Given the description of an element on the screen output the (x, y) to click on. 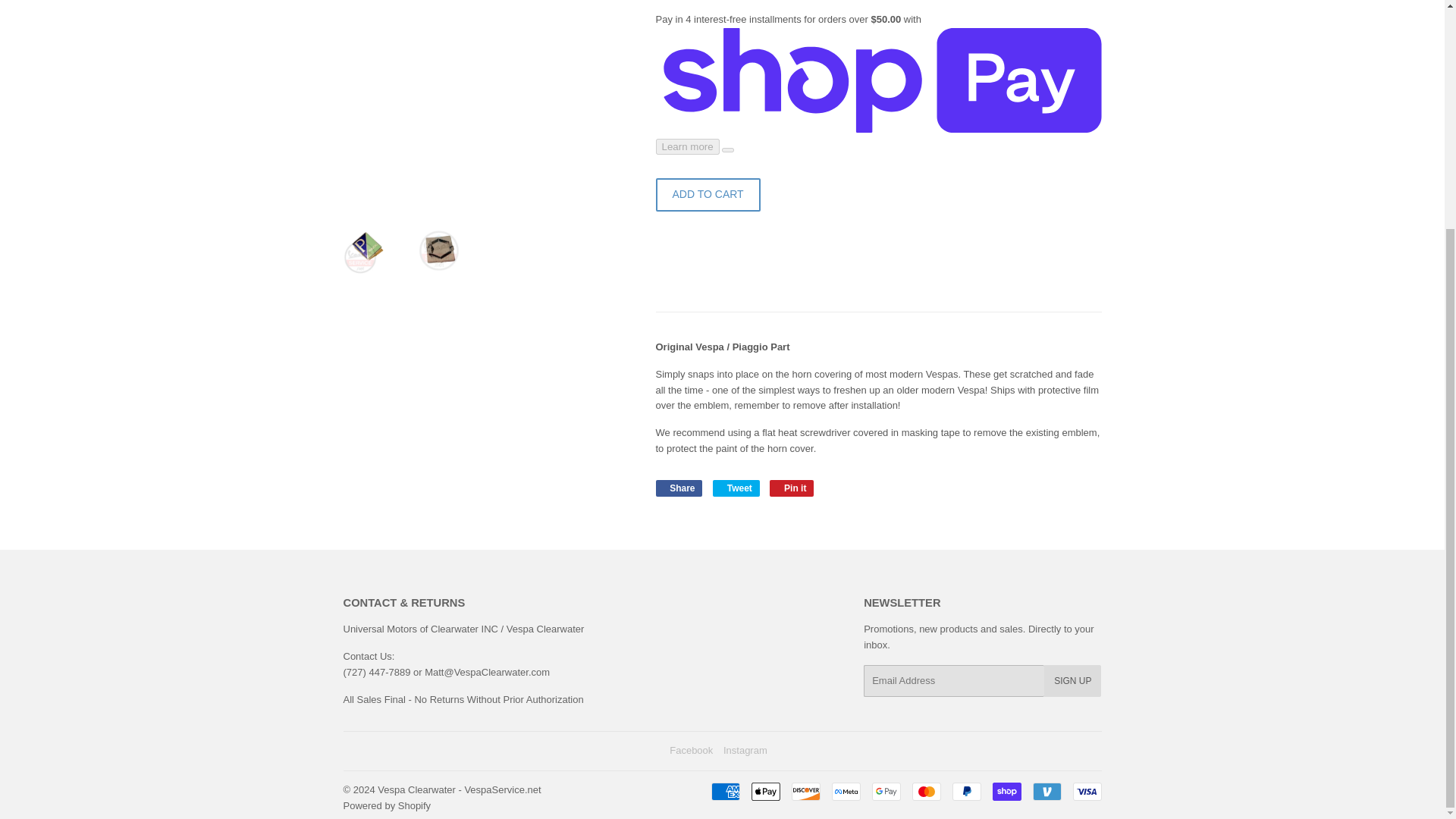
Venmo (1046, 791)
Google Pay (886, 791)
Pin on Pinterest (791, 487)
Vespa Clearwater - VespaService.net on Instagram (745, 749)
Mastercard (925, 791)
Visa (1085, 791)
Share on Facebook (678, 487)
Discover (806, 791)
Vespa Clearwater - VespaService.net on Facebook (691, 749)
Meta Pay (845, 791)
American Express (725, 791)
Apple Pay (764, 791)
Shop Pay (1005, 791)
Tweet on Twitter (736, 487)
PayPal (966, 791)
